Given the description of an element on the screen output the (x, y) to click on. 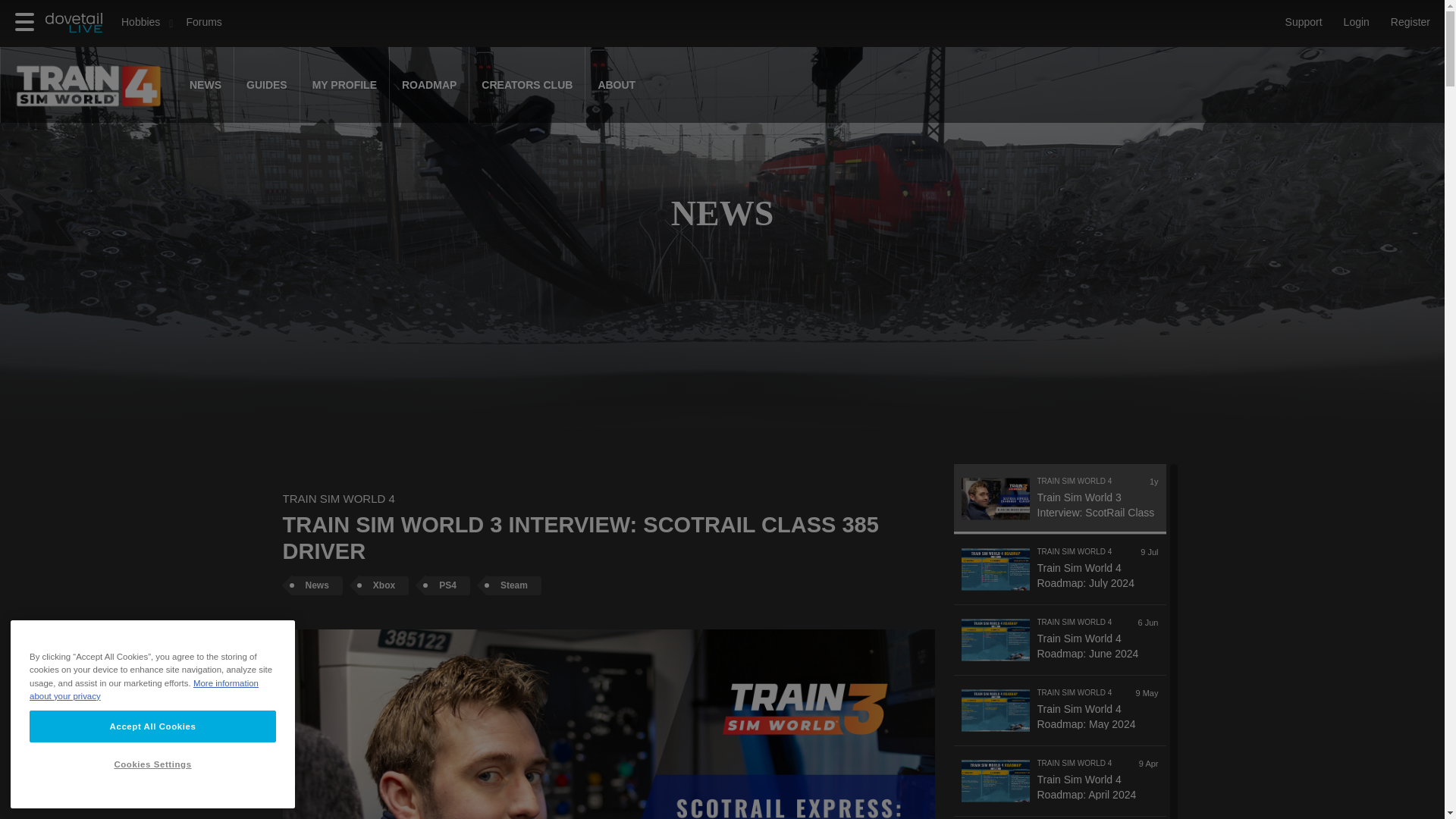
MY PROFILE (343, 84)
Forums (202, 23)
Support (1304, 22)
Hobbies (140, 22)
Dovetail Live (77, 29)
Register (1410, 22)
Login (1356, 22)
